Given the description of an element on the screen output the (x, y) to click on. 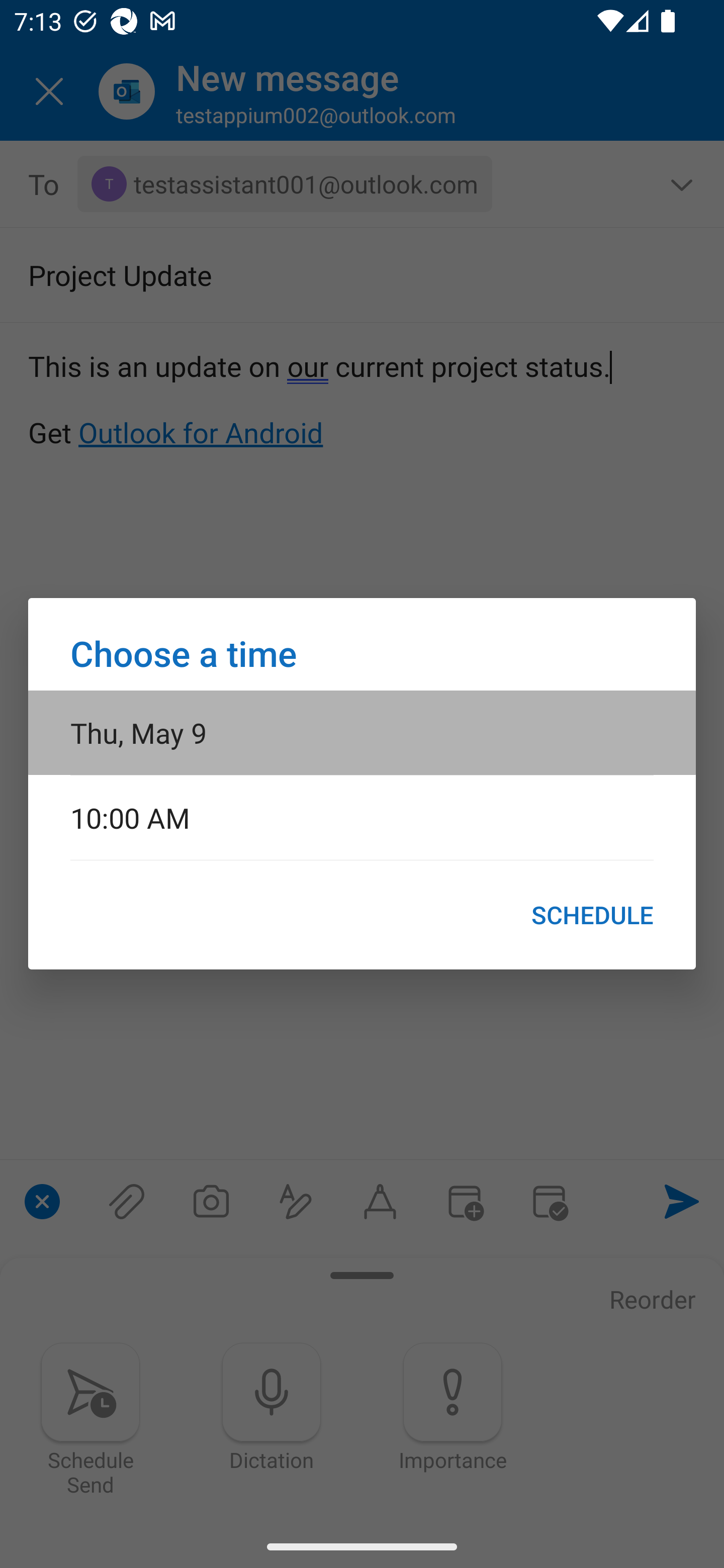
Thu, May 9 Choose date Thu, May 9 (361, 731)
10:00 AM Choose time 10:00 AM (361, 817)
SCHEDULE (592, 914)
